Given the description of an element on the screen output the (x, y) to click on. 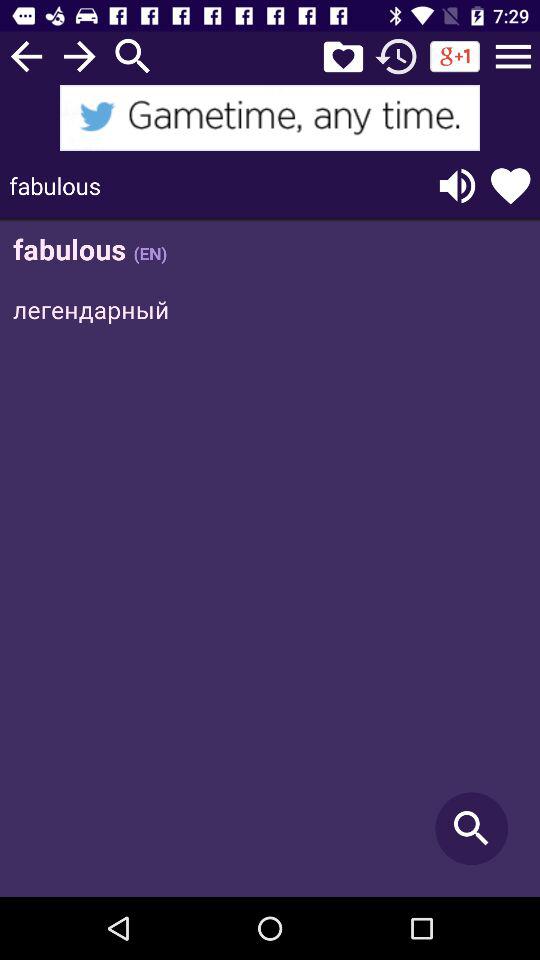
go to next (79, 56)
